Given the description of an element on the screen output the (x, y) to click on. 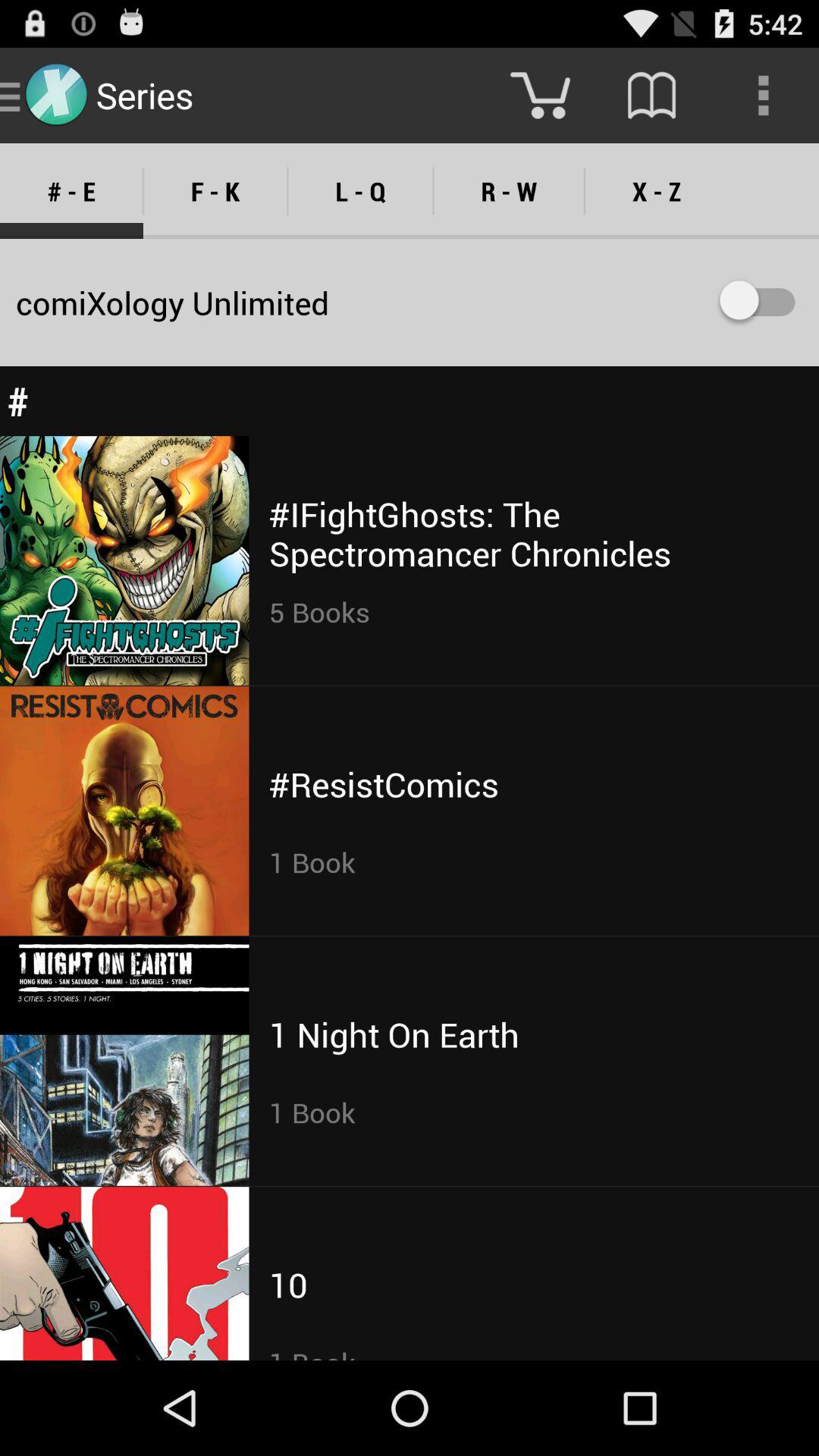
swipe to the ifightghosts the spectromancer (534, 533)
